Given the description of an element on the screen output the (x, y) to click on. 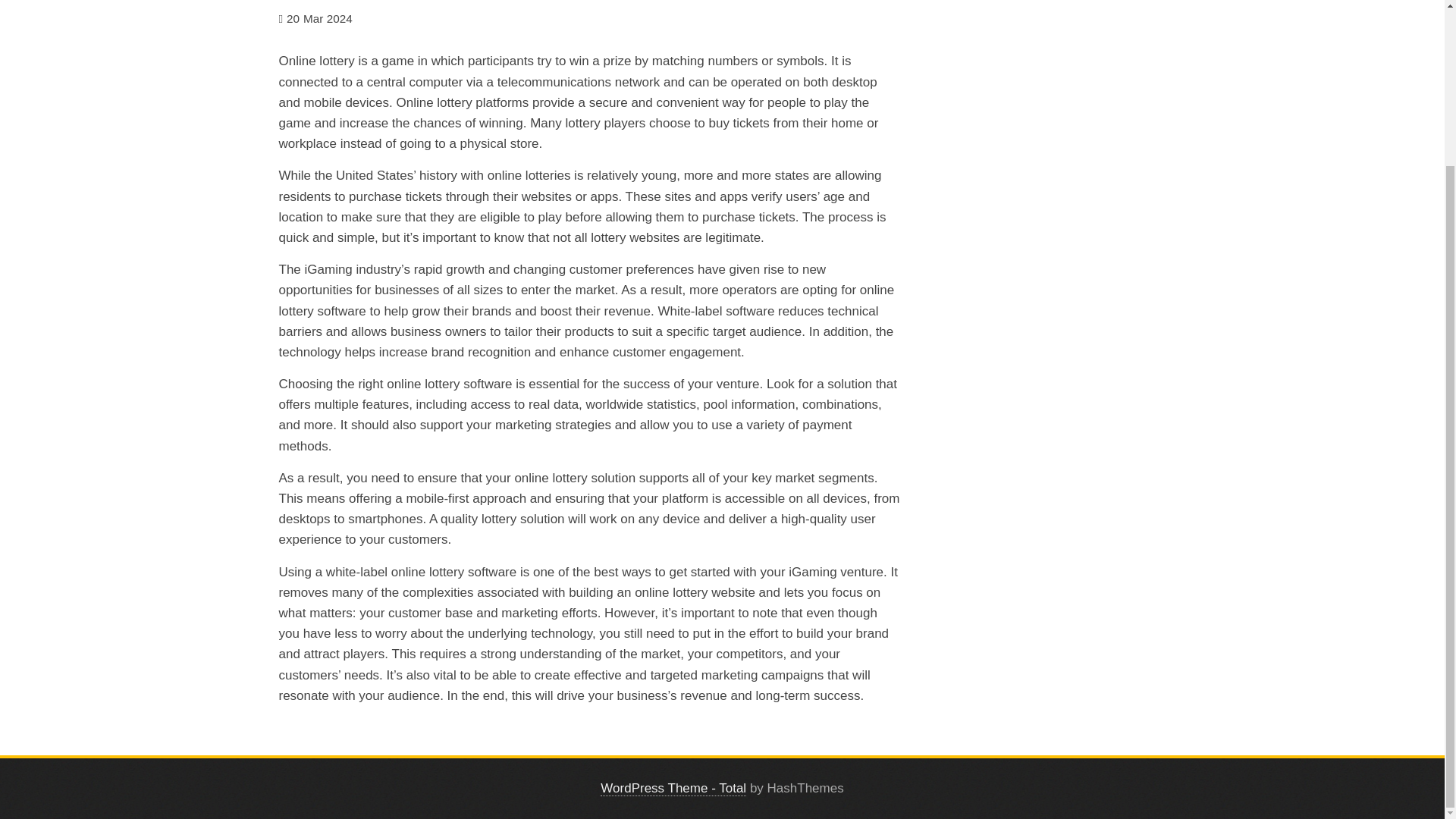
WordPress Theme - Total (672, 788)
